Given the description of an element on the screen output the (x, y) to click on. 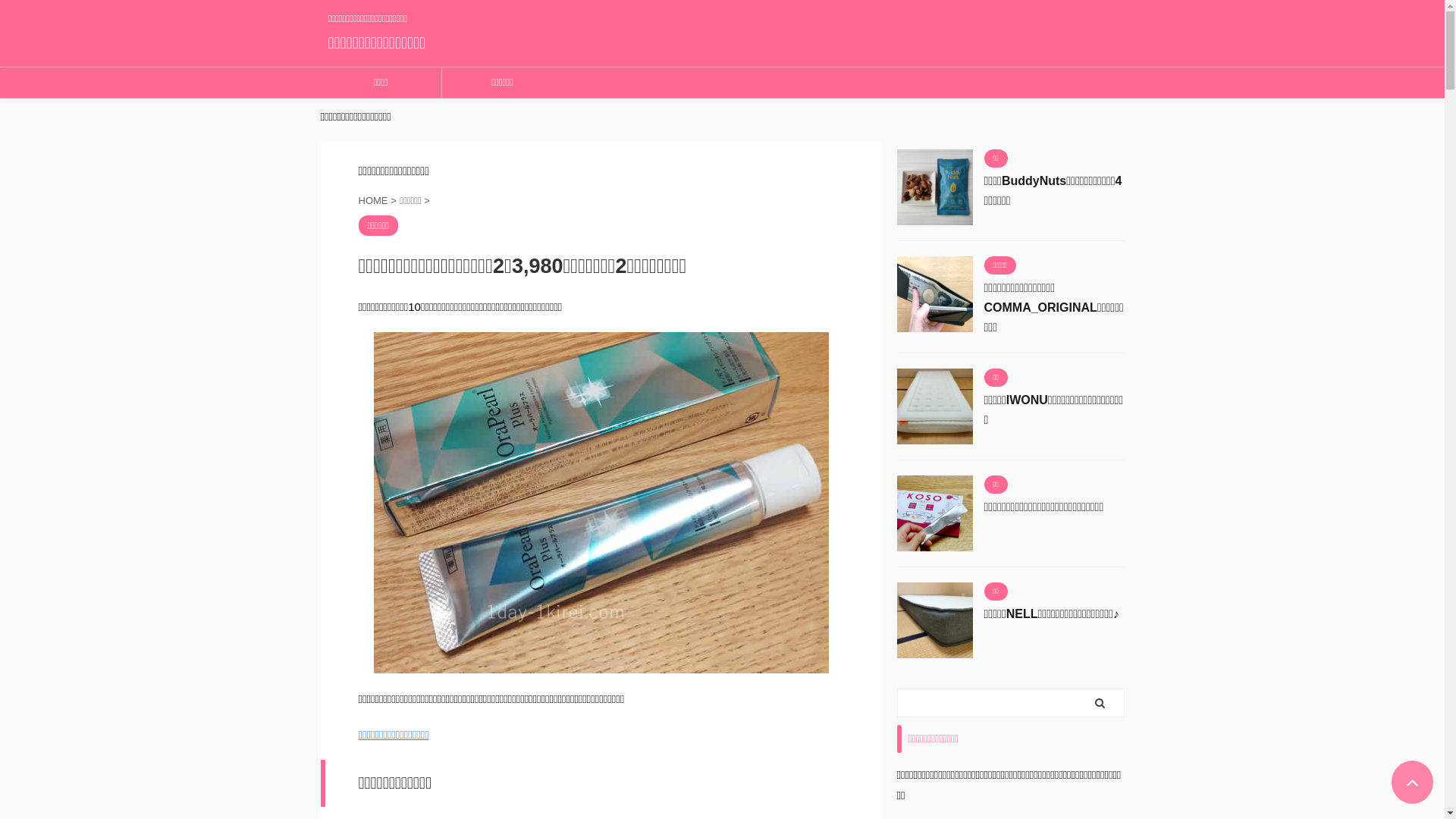
HOME Element type: text (373, 199)
